Given the description of an element on the screen output the (x, y) to click on. 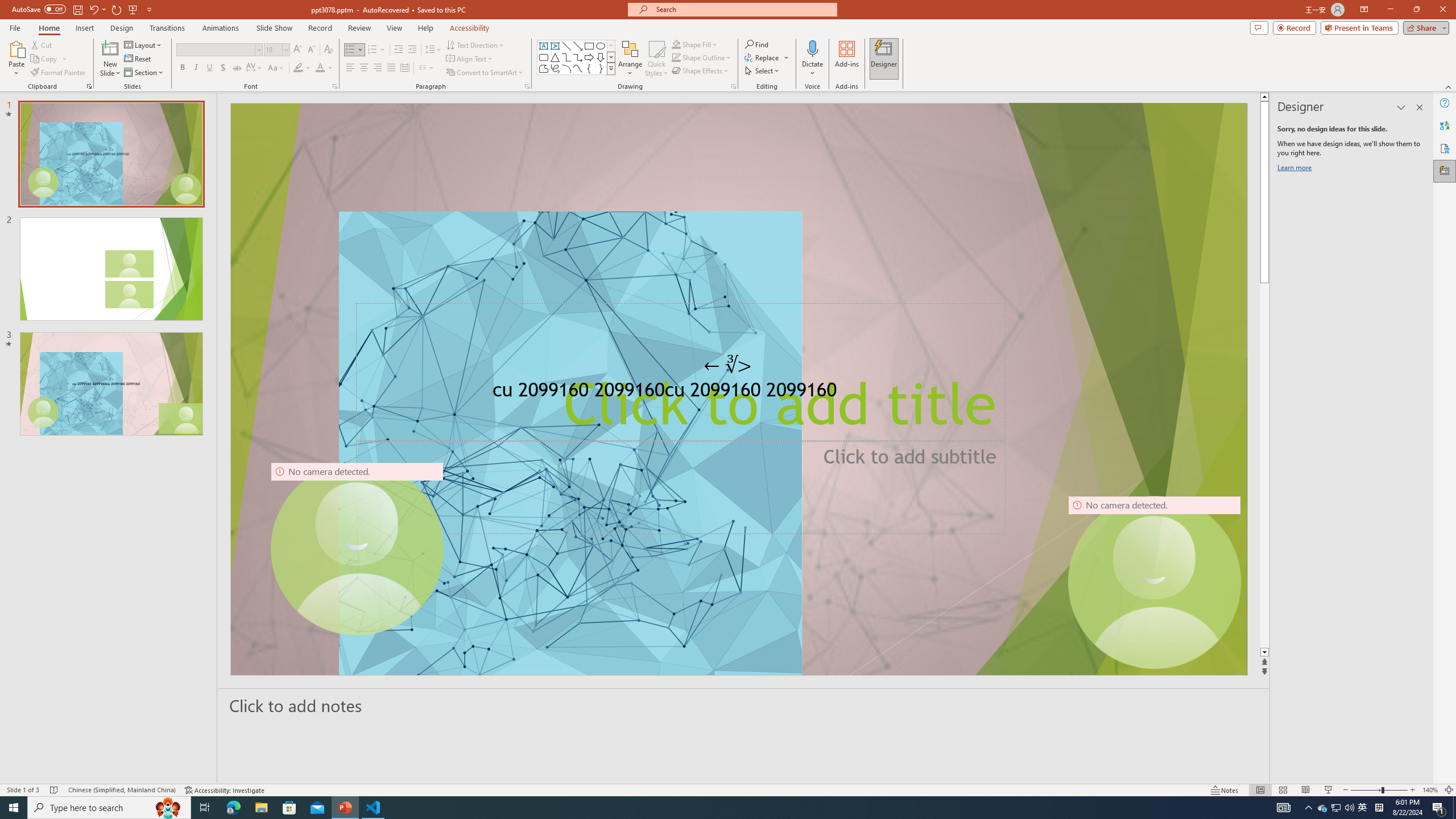
An abstract genetic concept (739, 388)
Subtitle TextBox (681, 486)
Camera 9, No camera detected. (357, 548)
